Given the description of an element on the screen output the (x, y) to click on. 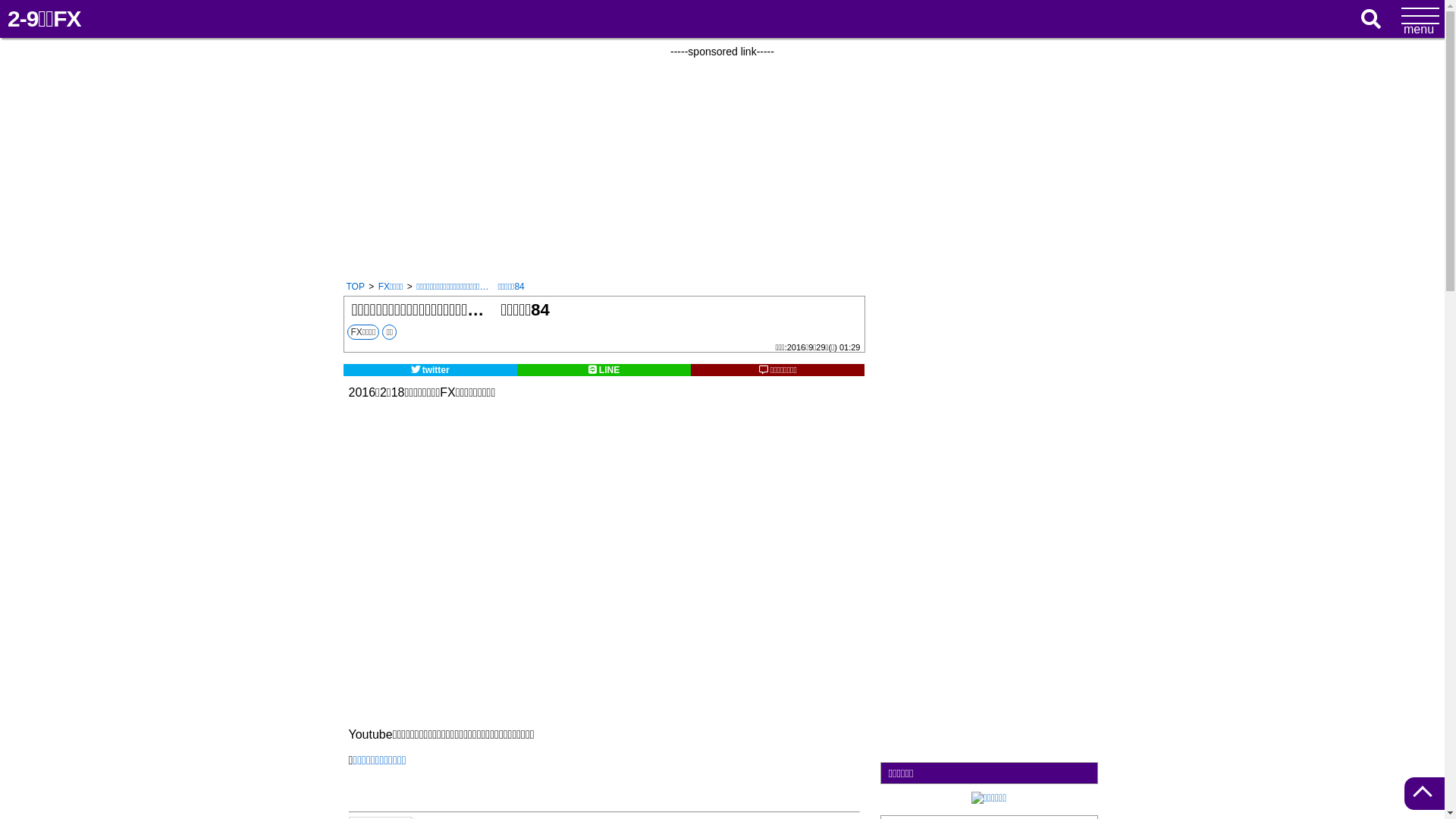
twitter Element type: text (429, 370)
Advertisement Element type: hover (988, 522)
LINE Element type: text (603, 370)
TOP Element type: text (354, 286)
Advertisement Element type: hover (721, 163)
